Given the description of an element on the screen output the (x, y) to click on. 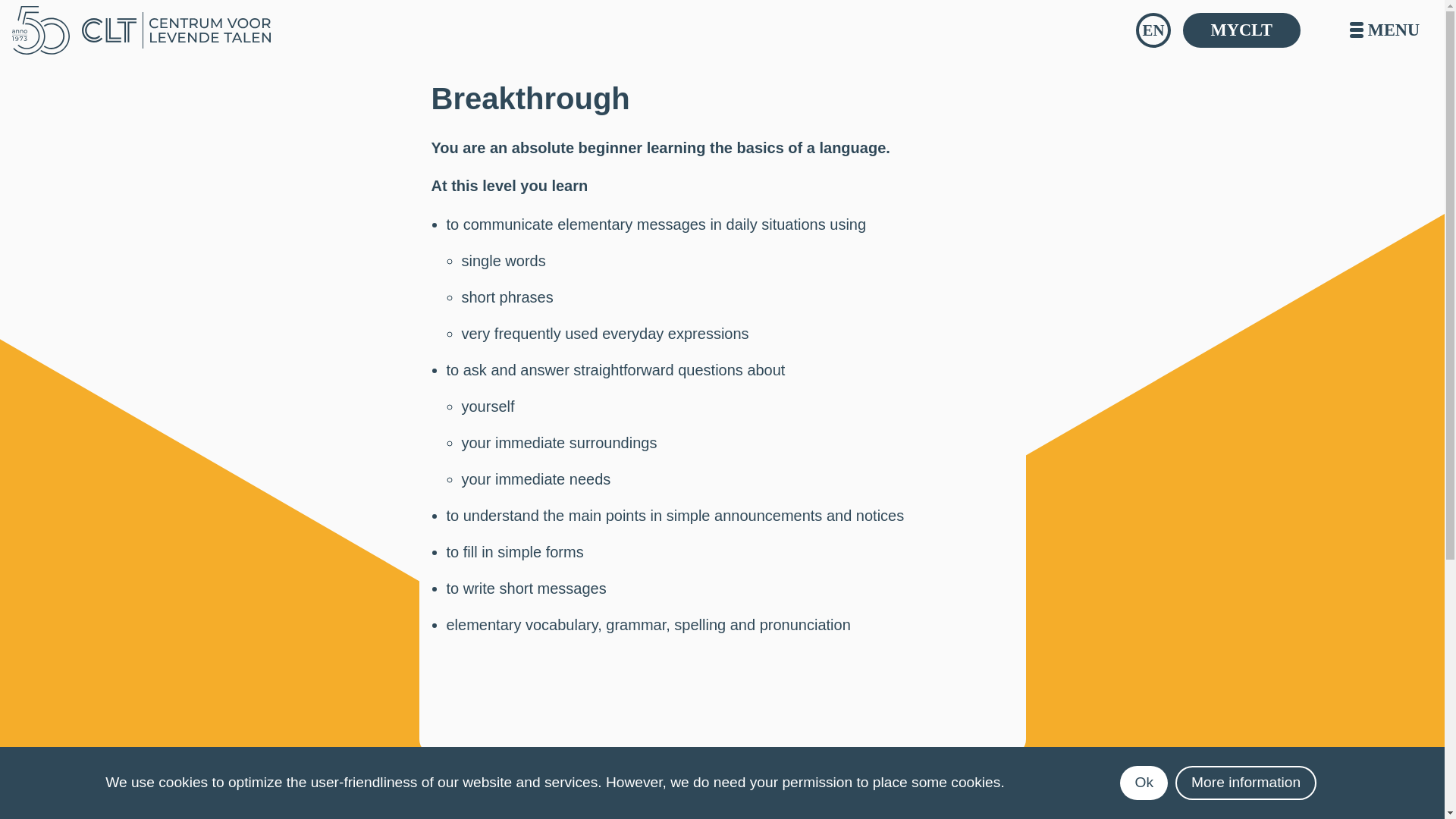
EN (1152, 30)
MYCLT (1241, 29)
